Given the description of an element on the screen output the (x, y) to click on. 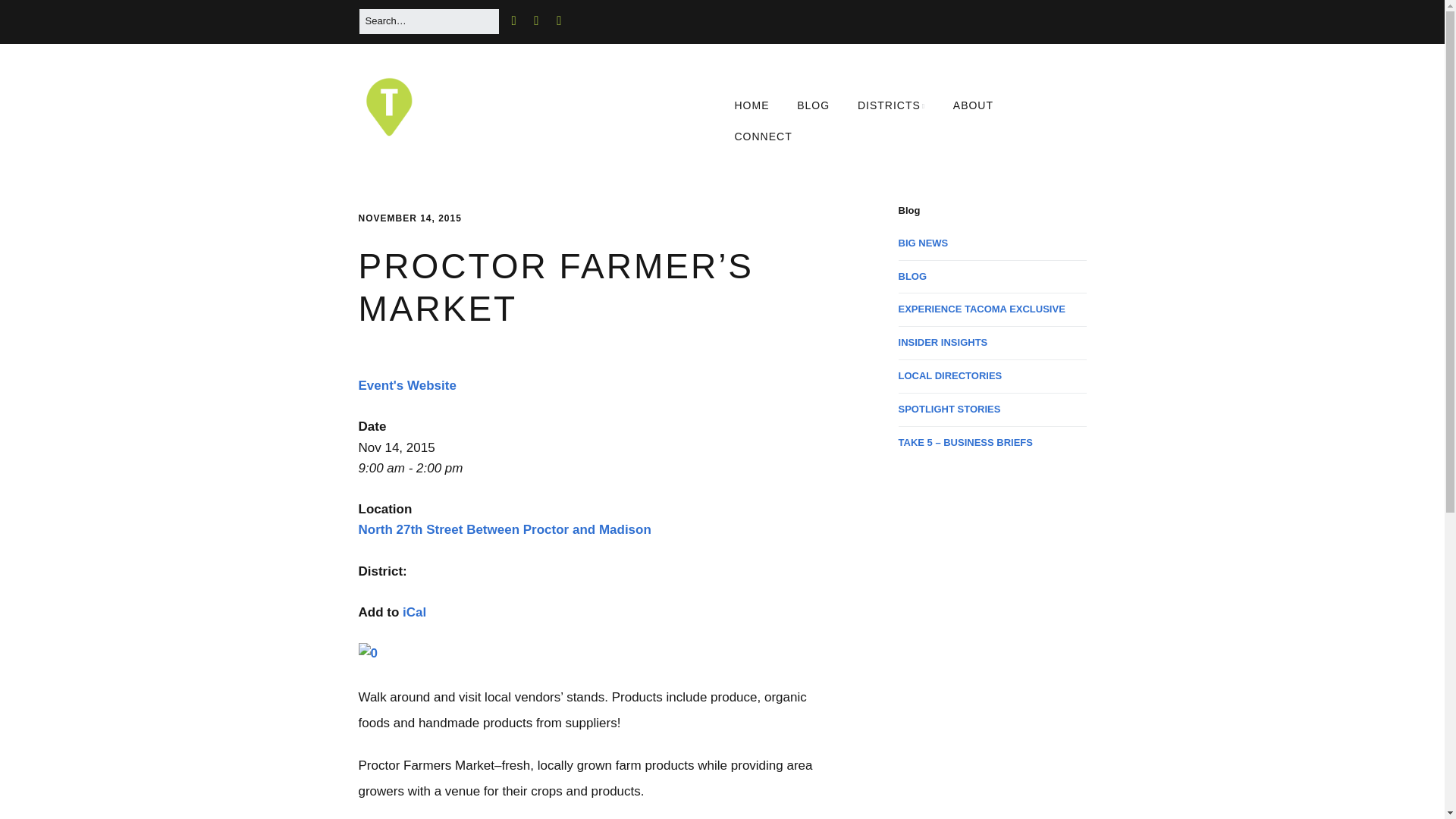
Event's Website (406, 385)
INSIDER INSIGHTS (943, 342)
North 27th Street Between Proctor and Madison (504, 529)
Search (29, 16)
HOME (751, 106)
BLOG (912, 276)
Press Enter to submit your search (428, 21)
BLOG (812, 106)
CONNECT (762, 137)
EXPERIENCE TACOMA EXCLUSIVE (981, 308)
